Given the description of an element on the screen output the (x, y) to click on. 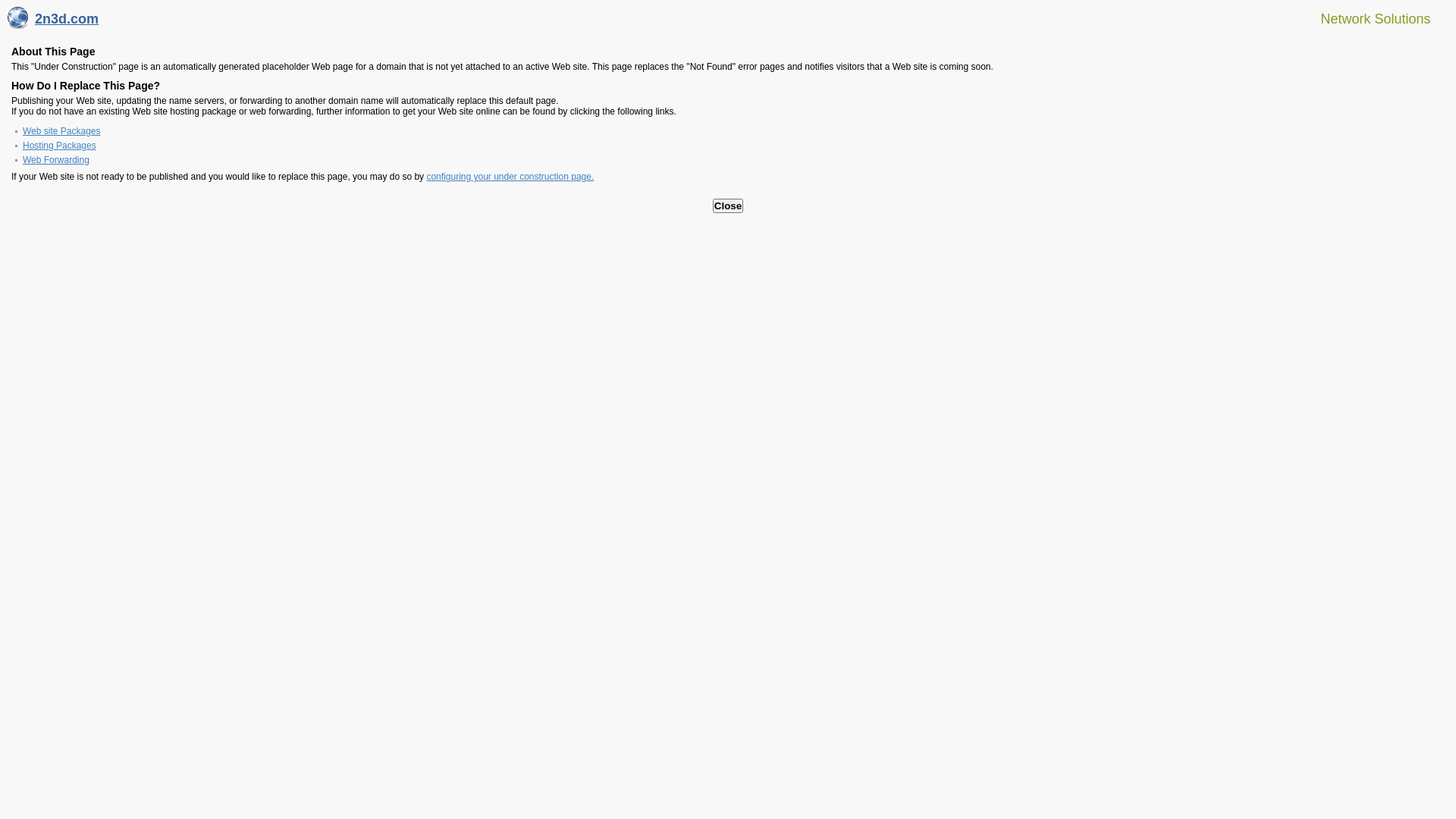
Close Element type: text (727, 205)
Network Solutions Element type: text (1366, 17)
2n3d.com Element type: text (52, 21)
configuring your under construction page. Element type: text (509, 176)
